Given the description of an element on the screen output the (x, y) to click on. 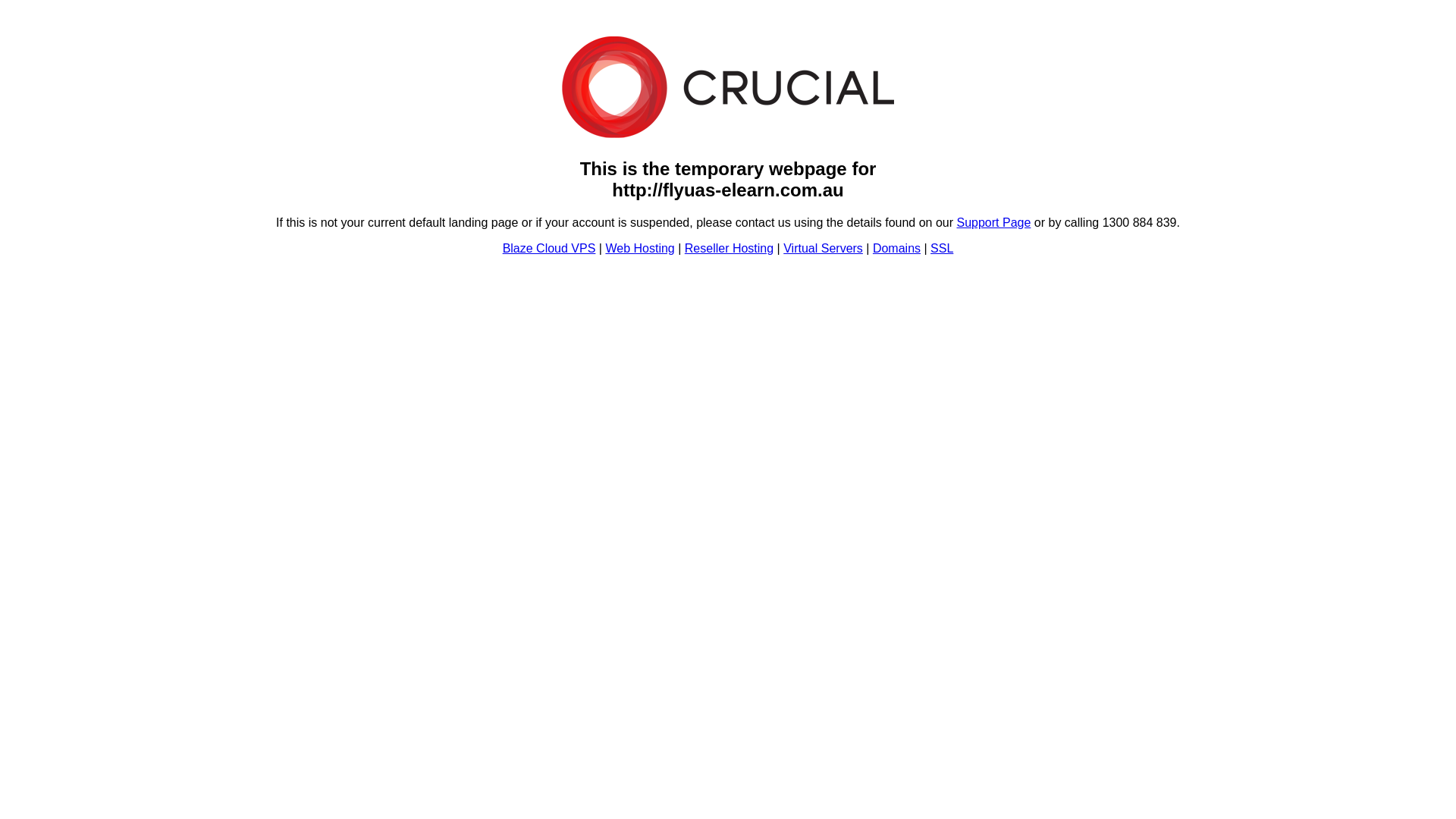
Domains Element type: text (896, 247)
Virtual Servers Element type: text (822, 247)
Support Page Element type: text (994, 222)
Reseller Hosting Element type: text (728, 247)
Web Hosting Element type: text (639, 247)
SSL Element type: text (941, 247)
Blaze Cloud VPS Element type: text (549, 247)
